Given the description of an element on the screen output the (x, y) to click on. 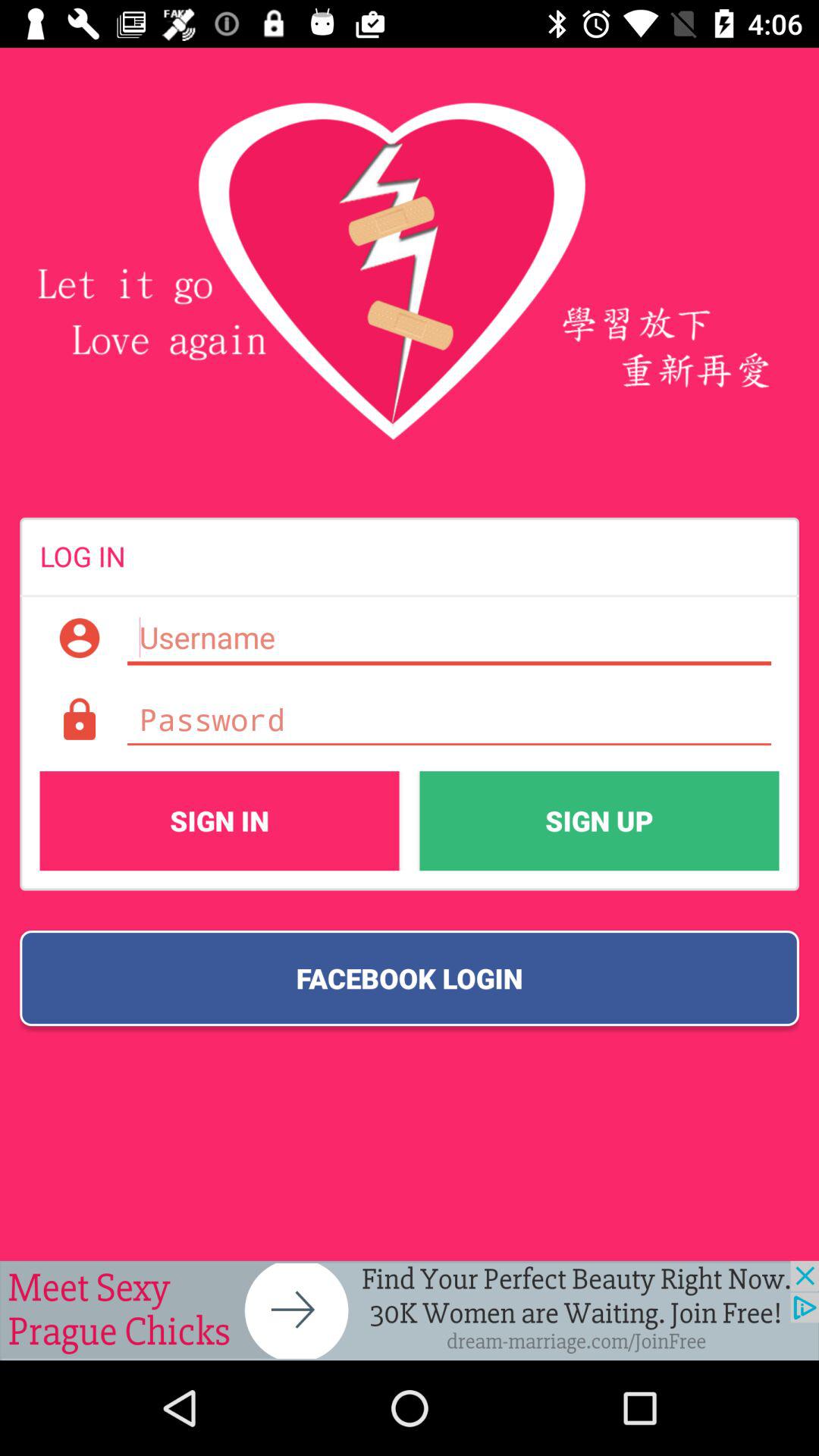
username (449, 638)
